Given the description of an element on the screen output the (x, y) to click on. 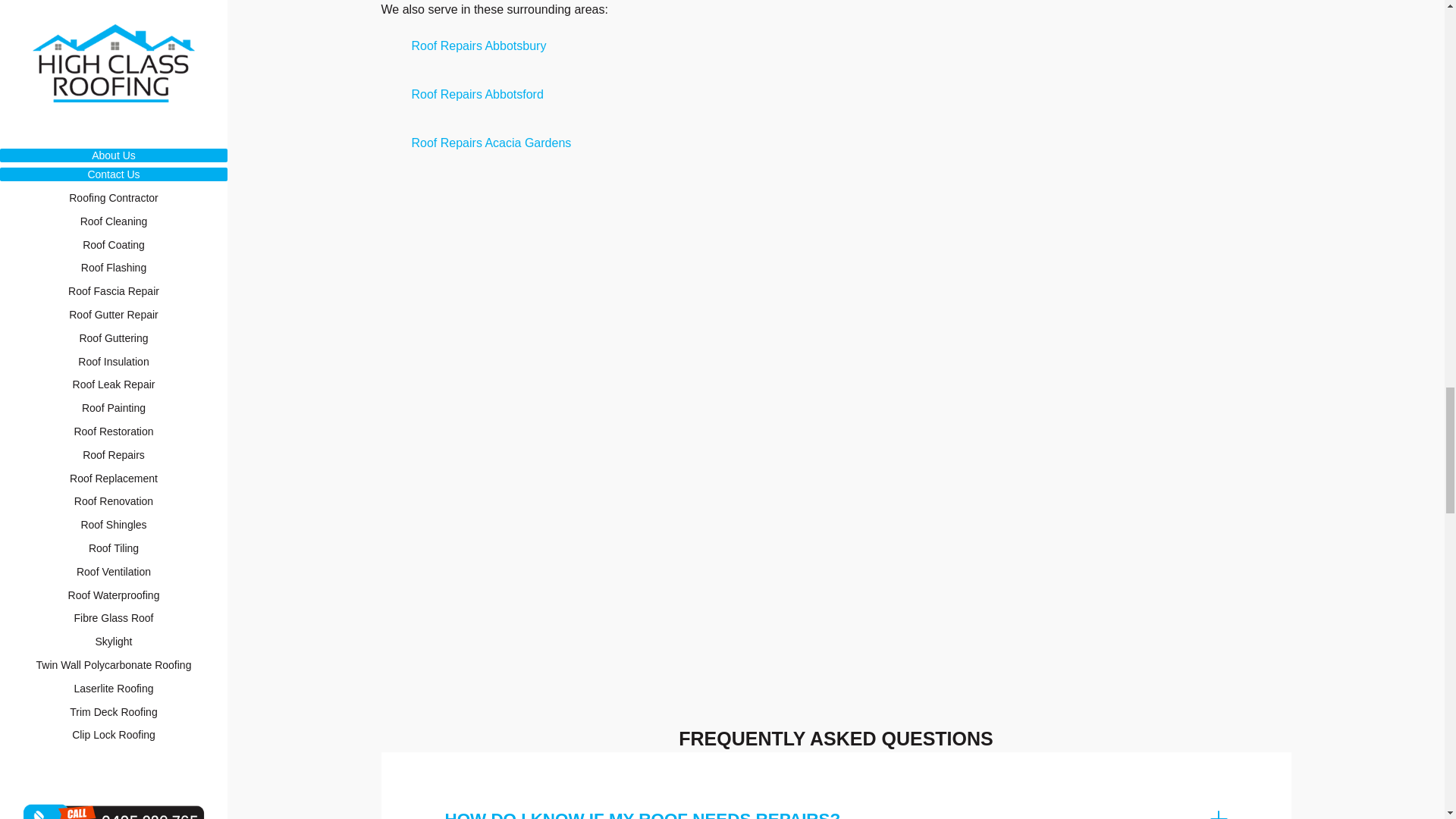
Roof Repairs Abbotsford (476, 93)
Roof Repairs Abbotsbury (478, 45)
Roof Repairs Acacia Gardens (490, 142)
